Given the description of an element on the screen output the (x, y) to click on. 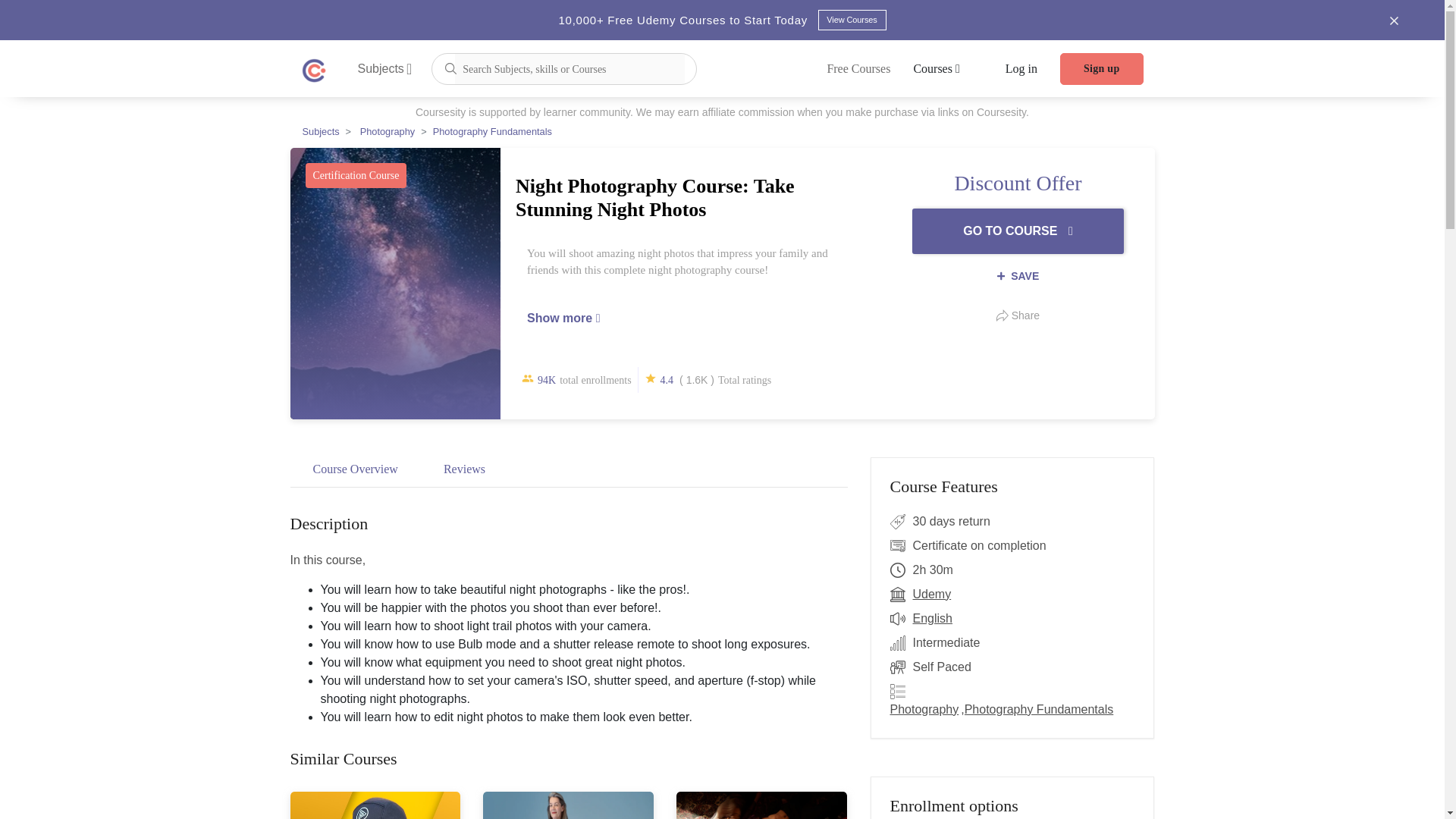
Subjects (384, 68)
Free Trial (900, 521)
Certification (900, 546)
Duration (900, 570)
View Courses (850, 19)
Offered by (900, 594)
Level (900, 642)
Topics (900, 691)
Audio (900, 618)
Submit the search query. (450, 67)
Type (900, 667)
